Given the description of an element on the screen output the (x, y) to click on. 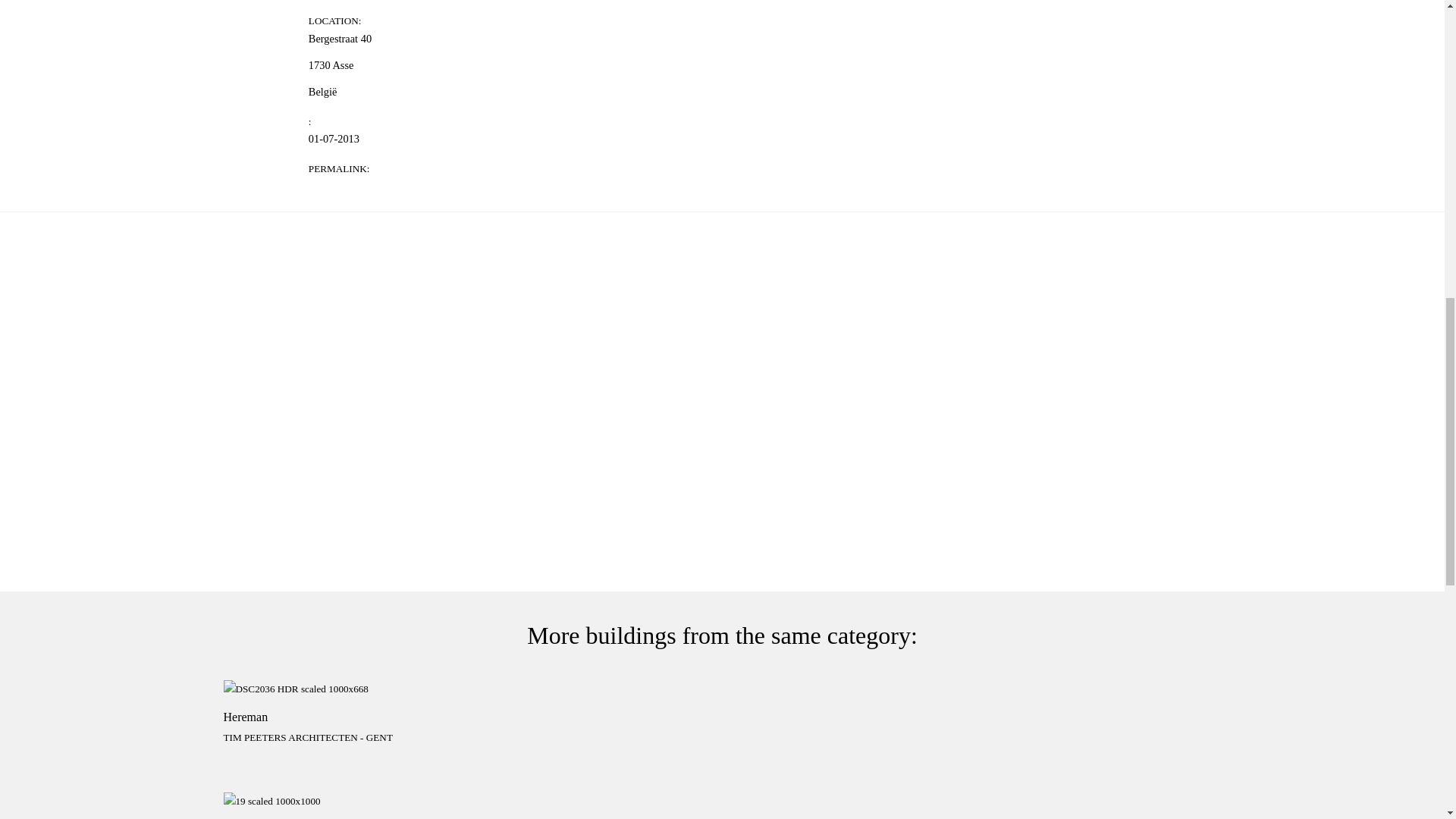
19 scaled 1000x1000 (334, 801)
DSC2036 HDR scaled 1000x668 (334, 719)
